Given the description of an element on the screen output the (x, y) to click on. 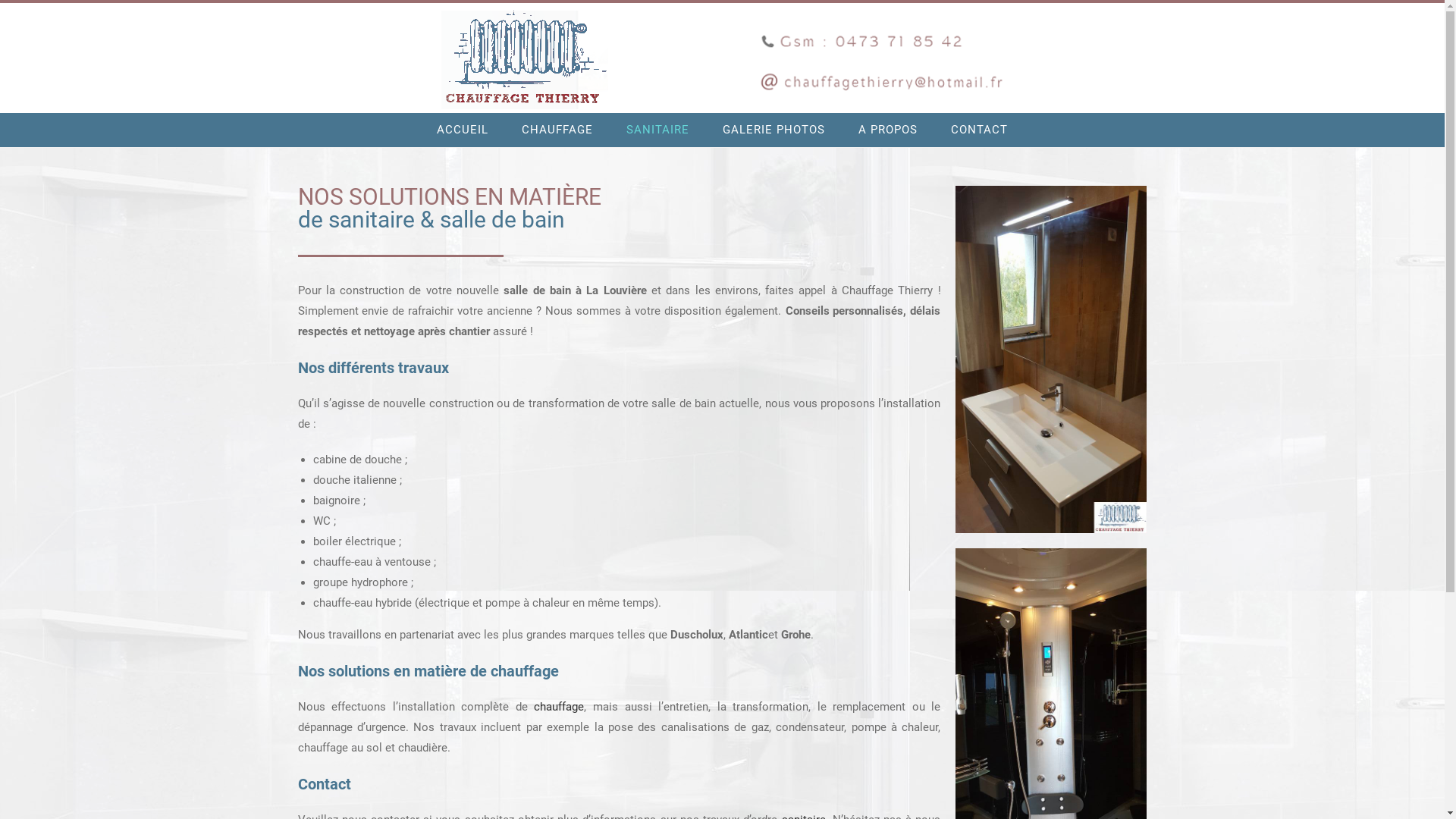
chauffage Element type: text (558, 706)
GALERIE PHOTOS Element type: text (773, 129)
CONTACT Element type: text (979, 129)
A PROPOS Element type: text (887, 129)
ACCUEIL Element type: text (462, 129)
CHAUFFAGE Element type: text (557, 129)
SANITAIRE Element type: text (657, 129)
